Given the description of an element on the screen output the (x, y) to click on. 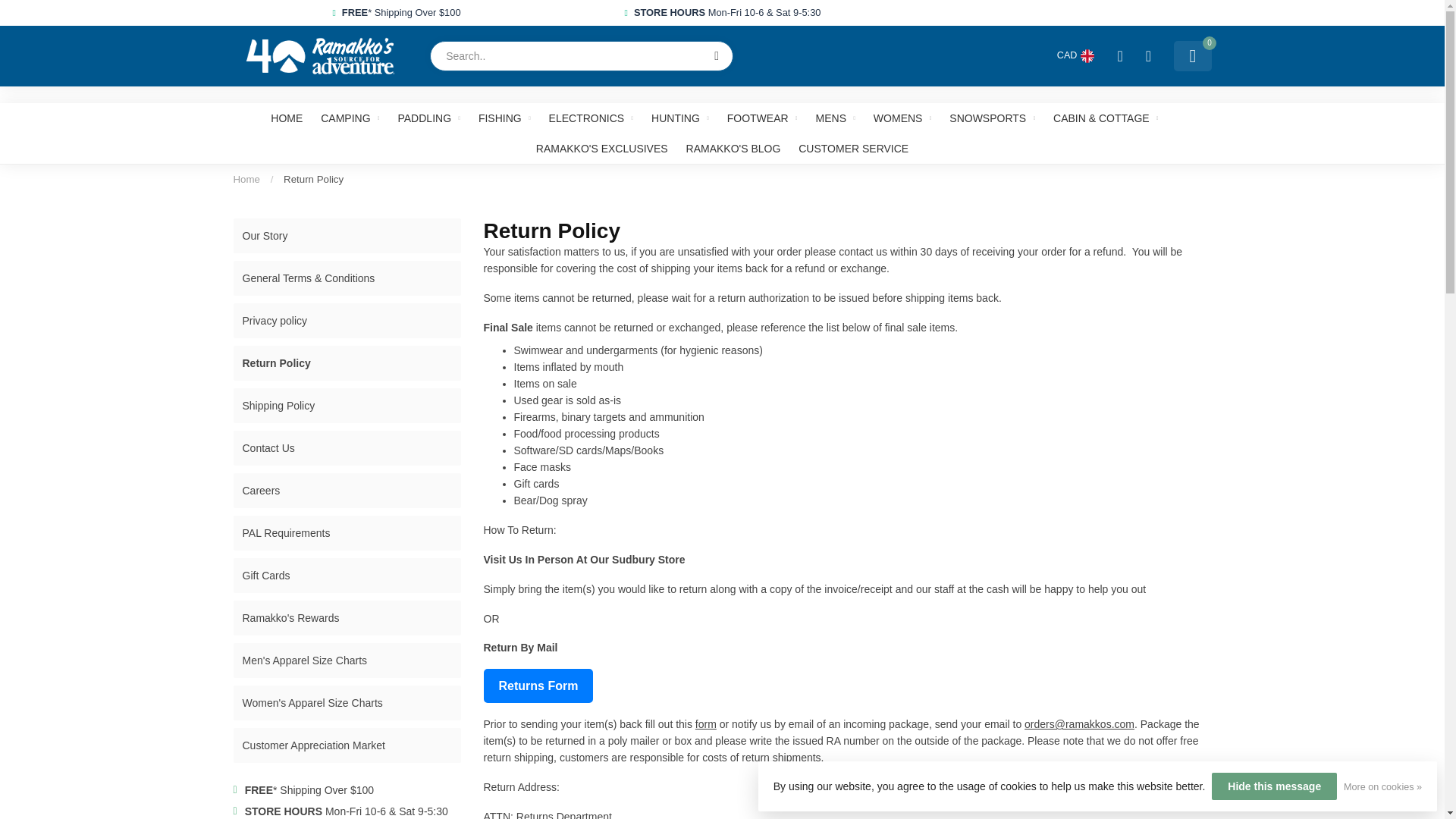
0 (1192, 55)
HOME (286, 118)
1 (1060, 244)
Home (246, 179)
CAMPING (349, 118)
